Given the description of an element on the screen output the (x, y) to click on. 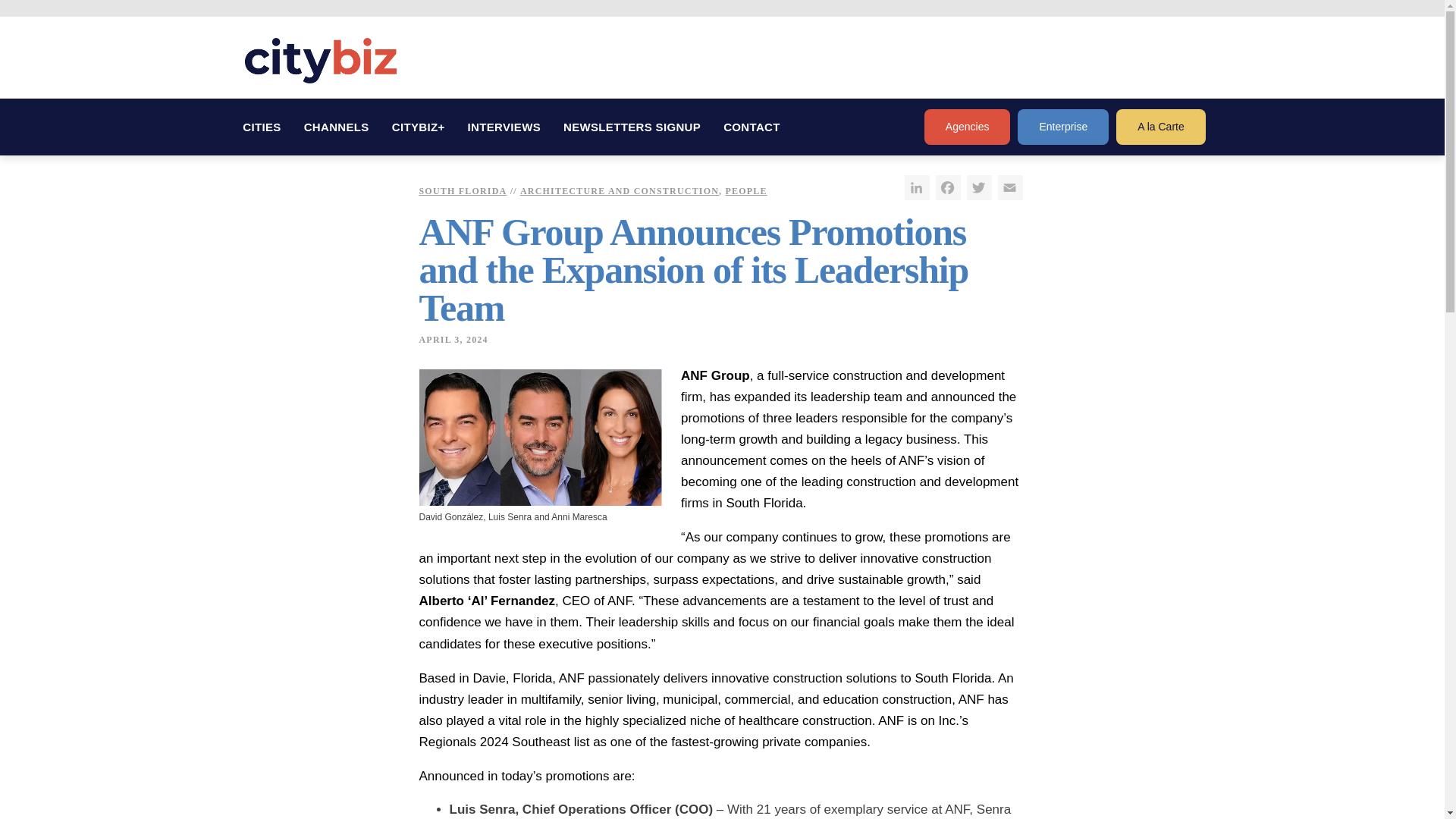
Facebook (948, 187)
Email (1010, 187)
citybiz (320, 60)
Twitter (978, 187)
LinkedIn (916, 187)
CHANNELS (336, 127)
CITIES (261, 127)
citybiz (320, 60)
